Given the description of an element on the screen output the (x, y) to click on. 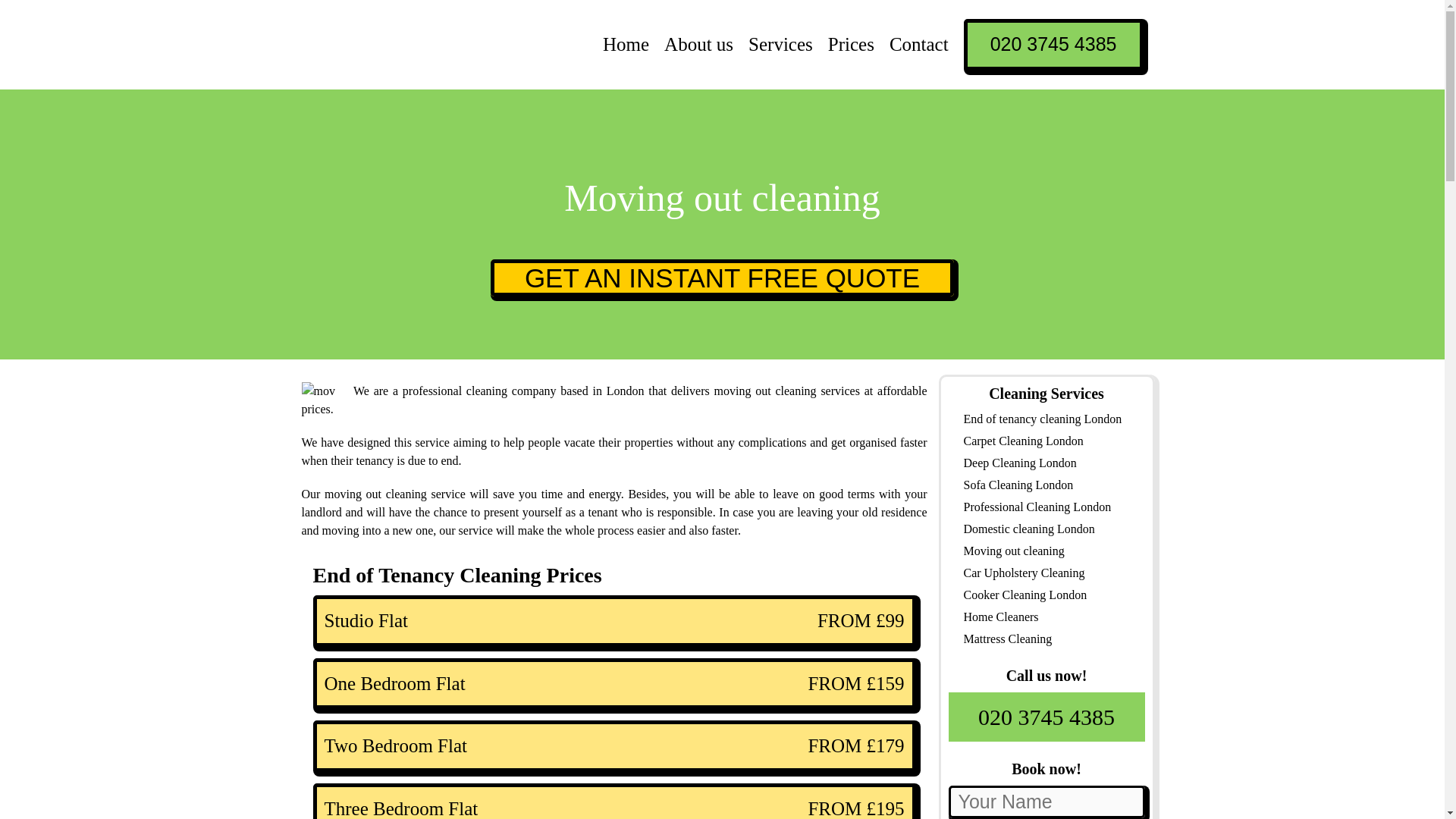
Professional Cleaning London (1036, 506)
Cooker Cleaning London (1024, 594)
Moving out cleaning (1013, 550)
Domestic cleaning London (1028, 527)
Car Upholstery Cleaning (1023, 571)
GET AN INSTANT FREE QUOTE (721, 277)
020 3745 4385 (1053, 44)
Home (625, 44)
Mattress Cleaning (1006, 638)
Sofa Cleaning London (1017, 483)
